Given the description of an element on the screen output the (x, y) to click on. 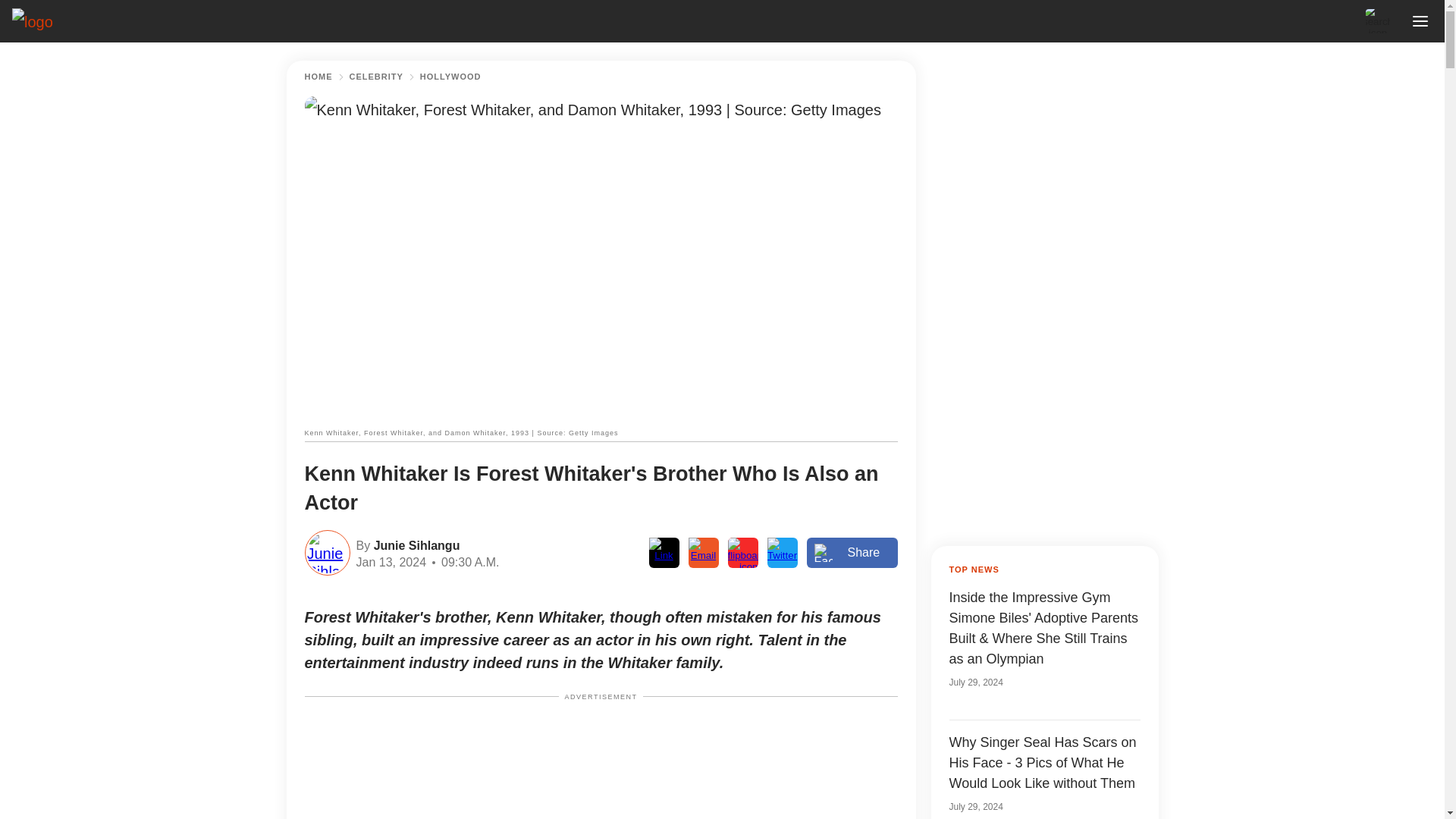
HOLLYWOOD (450, 76)
CELEBRITY (376, 76)
Junie Sihlangu (414, 544)
HOME (318, 76)
